Given the description of an element on the screen output the (x, y) to click on. 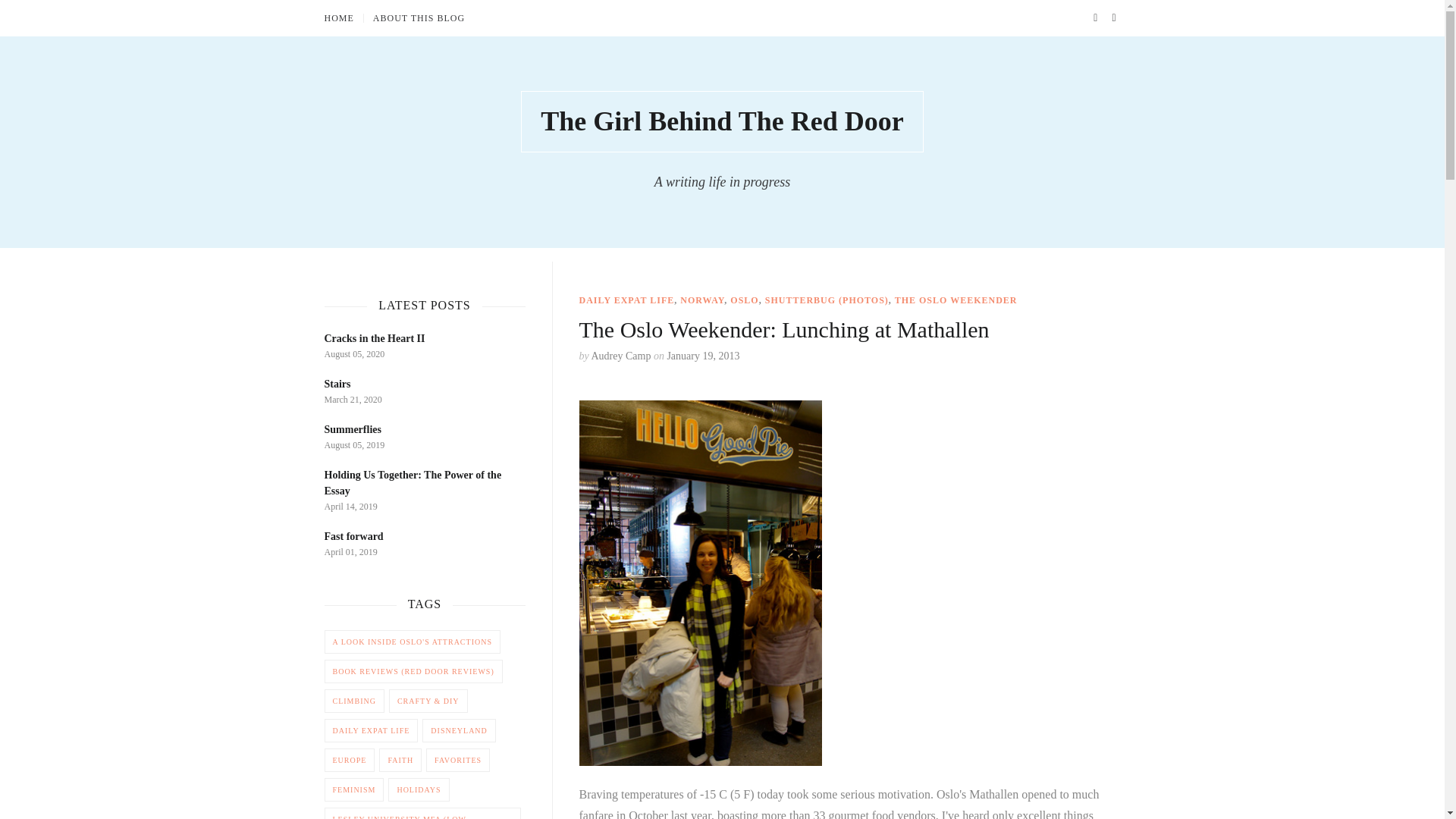
NORWAY (701, 299)
ABOUT THIS BLOG (418, 17)
A LOOK INSIDE OSLO'S ATTRACTIONS (412, 641)
DAILY EXPAT LIFE (371, 730)
Cracks in the Heart II (374, 337)
The Girl Behind The Red Door (722, 121)
Fast forward (354, 536)
Holding Us Together: The Power of the Essay (413, 482)
CLIMBING (354, 700)
FAITH (400, 760)
Audrey Camp (620, 355)
DISNEYLAND (458, 730)
HOME (343, 17)
OSLO (744, 299)
DAILY EXPAT LIFE (627, 299)
